Given the description of an element on the screen output the (x, y) to click on. 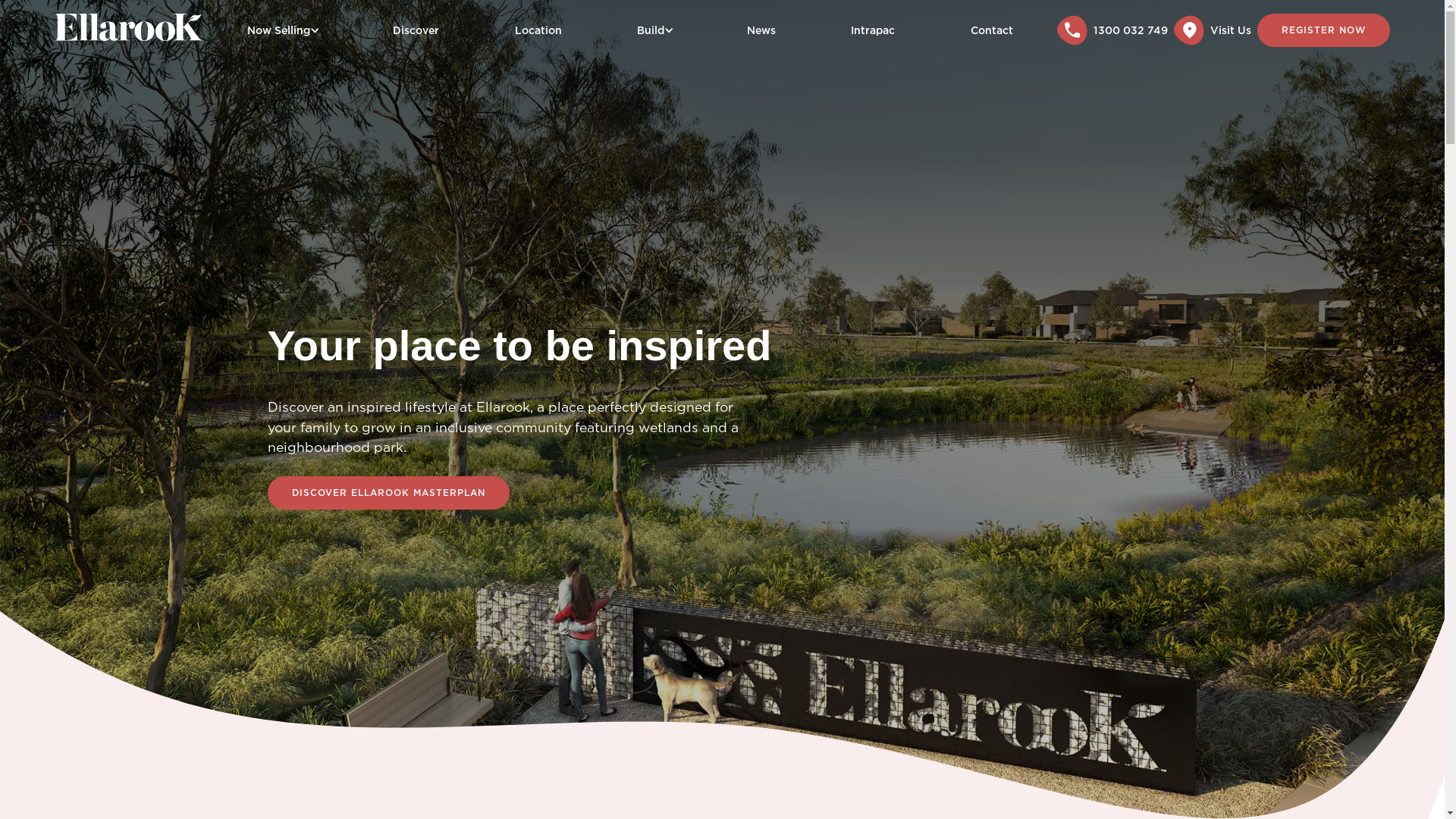
Build Element type: text (650, 29)
Location Element type: text (537, 30)
Contact Element type: text (991, 30)
REGISTER NOW Element type: text (1323, 30)
DISCOVER ELLAROOK MASTERPLAN Element type: text (387, 492)
Discover Element type: text (415, 30)
Now Selling Element type: text (278, 29)
Intrapac Element type: text (872, 30)
News Element type: text (760, 30)
1300 032 749 Element type: text (1115, 30)
Visit Us Element type: text (1215, 30)
